Given the description of an element on the screen output the (x, y) to click on. 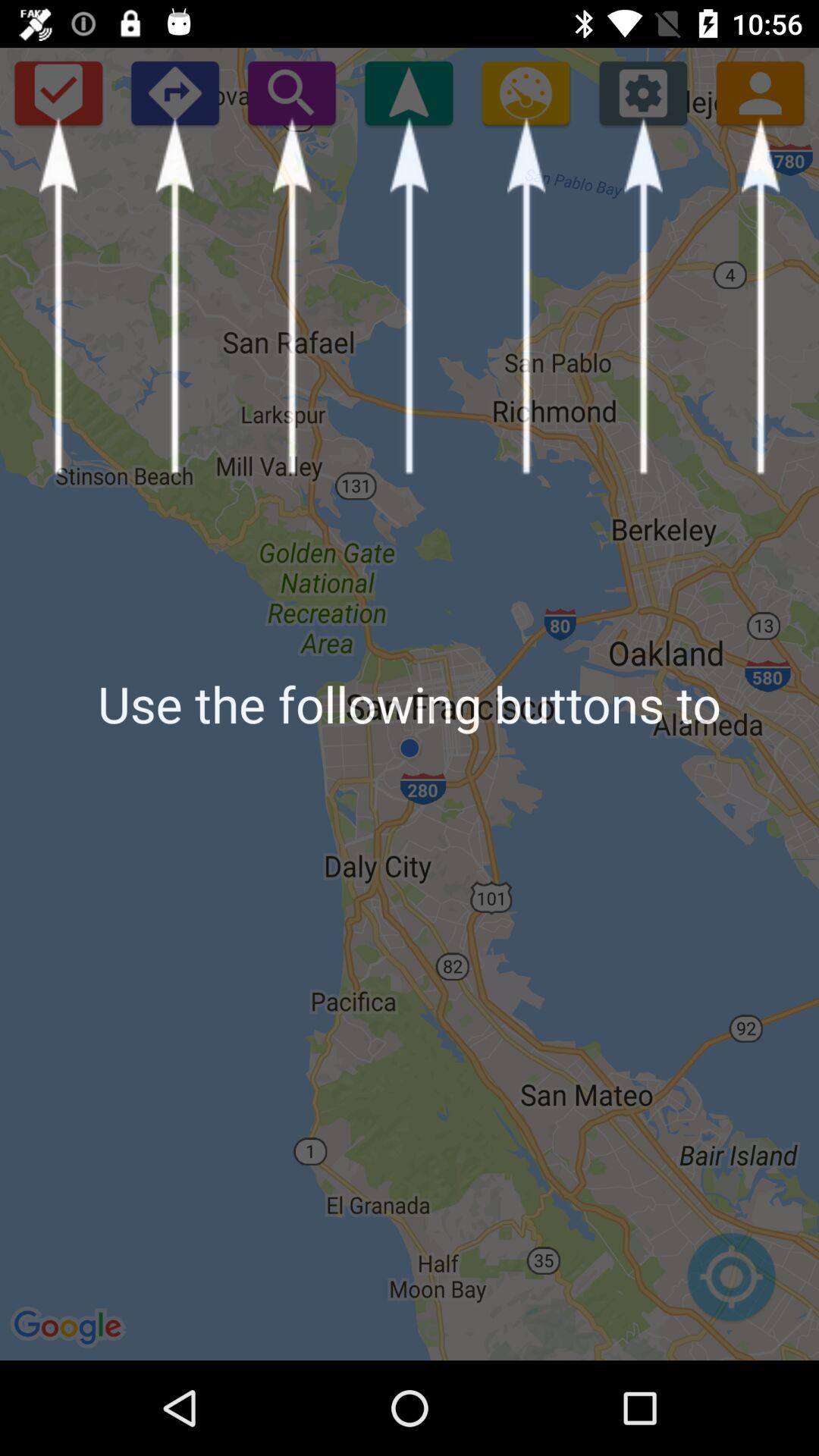
choose item below use the following item (731, 1284)
